Given the description of an element on the screen output the (x, y) to click on. 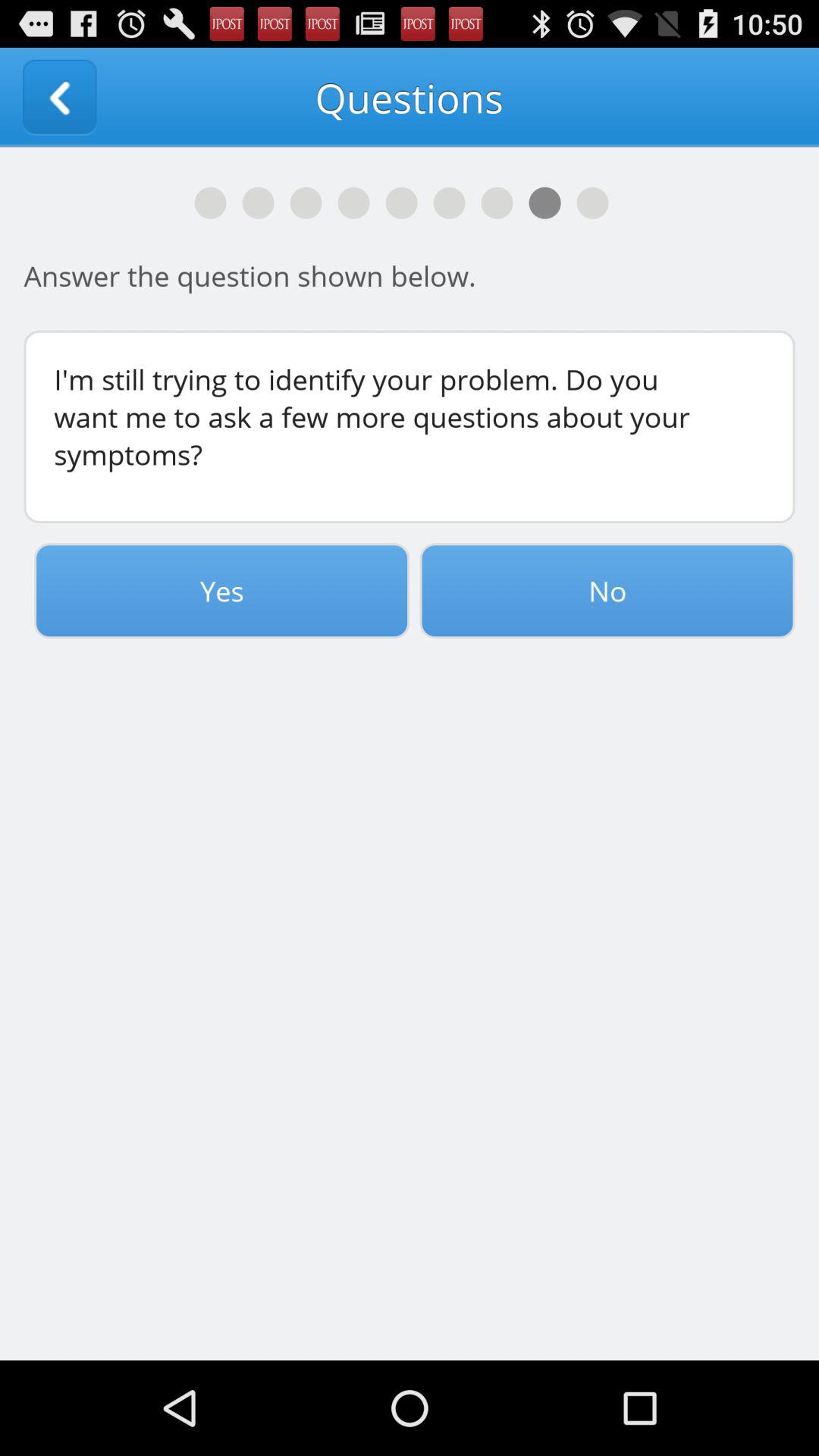
turn on the icon below the i m still (221, 590)
